Given the description of an element on the screen output the (x, y) to click on. 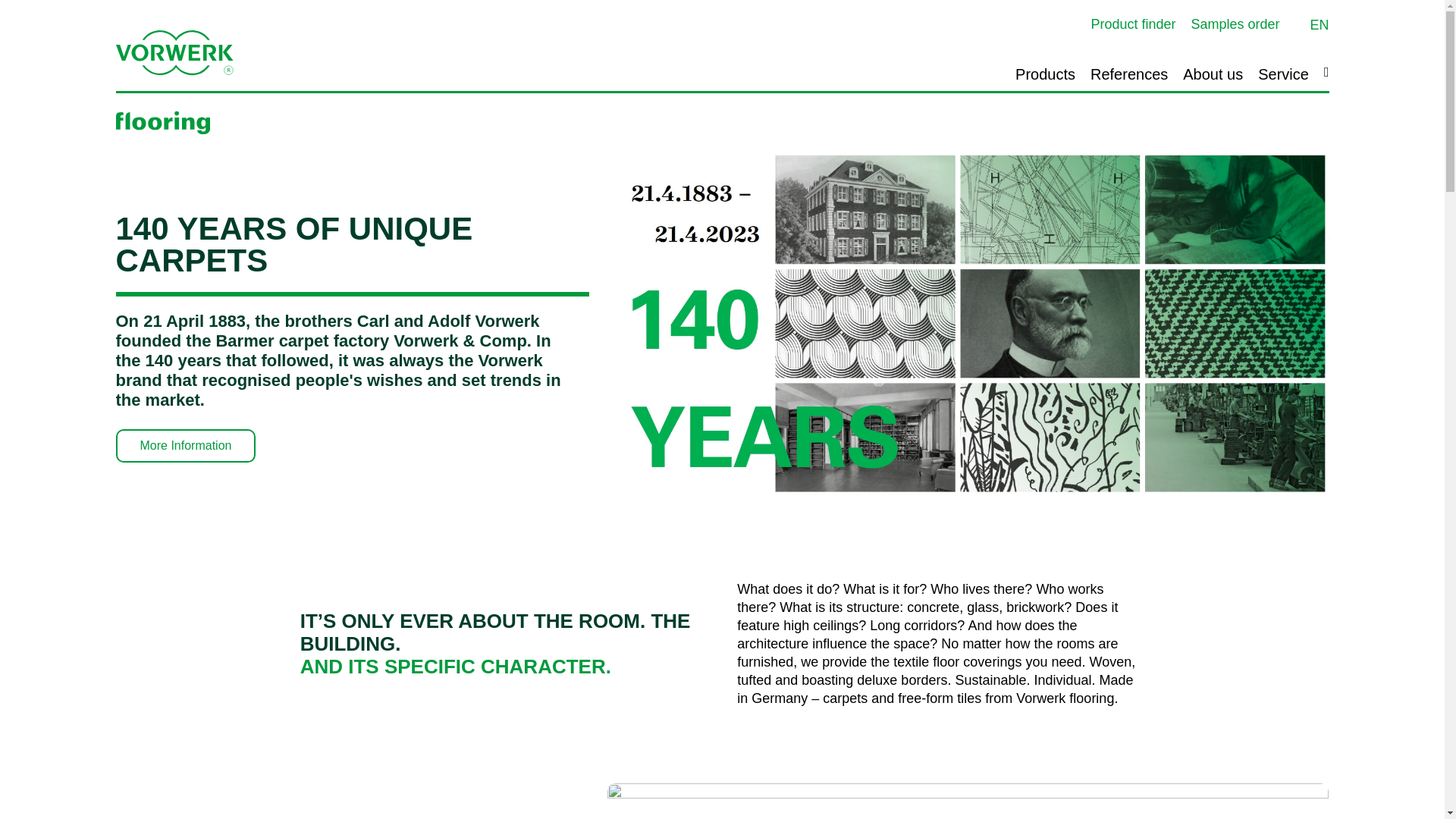
References (1128, 74)
Products (1044, 74)
Product finder (1132, 23)
Samples order (1235, 23)
Service (1282, 74)
EN (1319, 24)
About us (1212, 74)
